Given the description of an element on the screen output the (x, y) to click on. 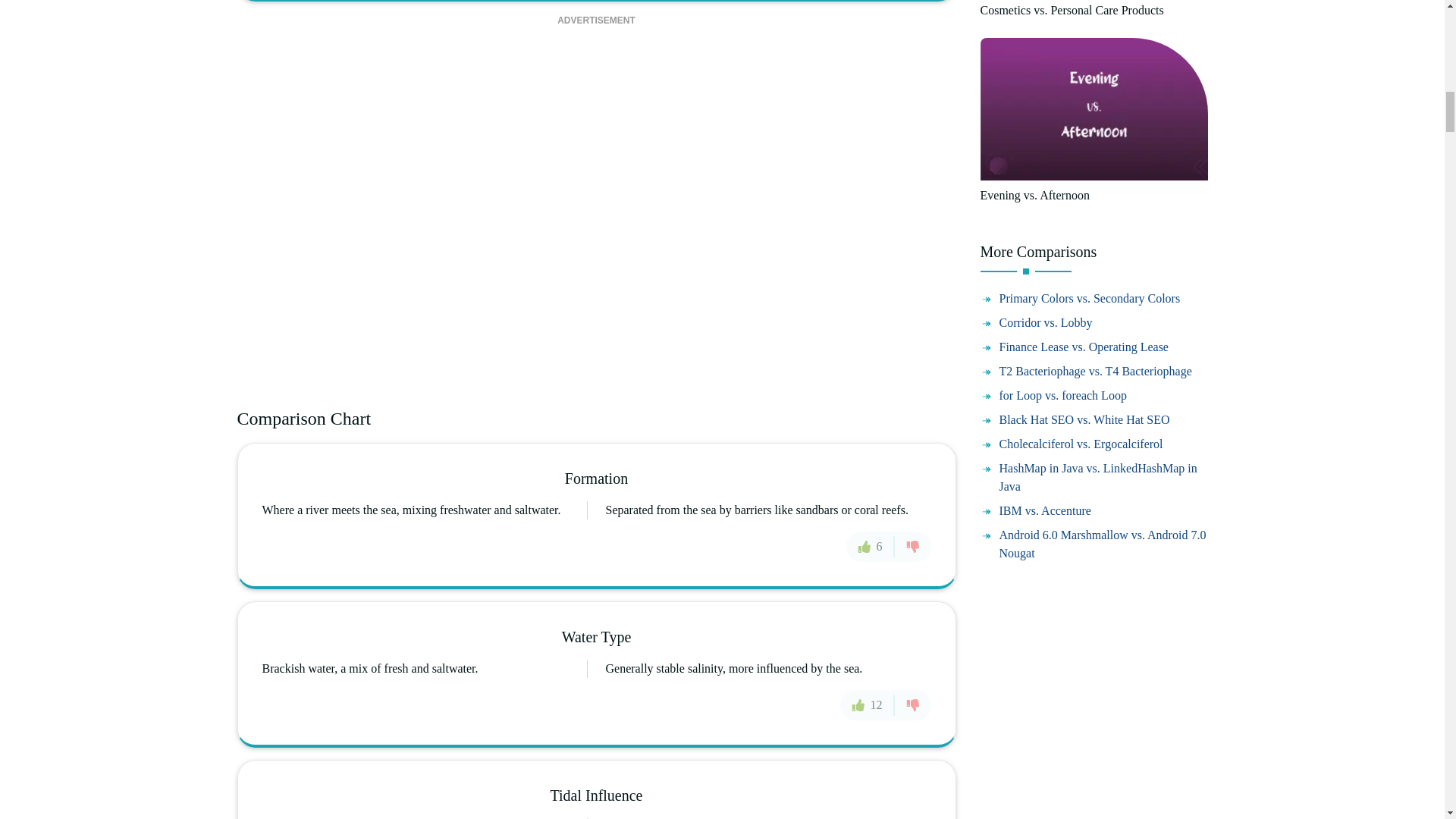
6 (870, 545)
12 (867, 705)
